Given the description of an element on the screen output the (x, y) to click on. 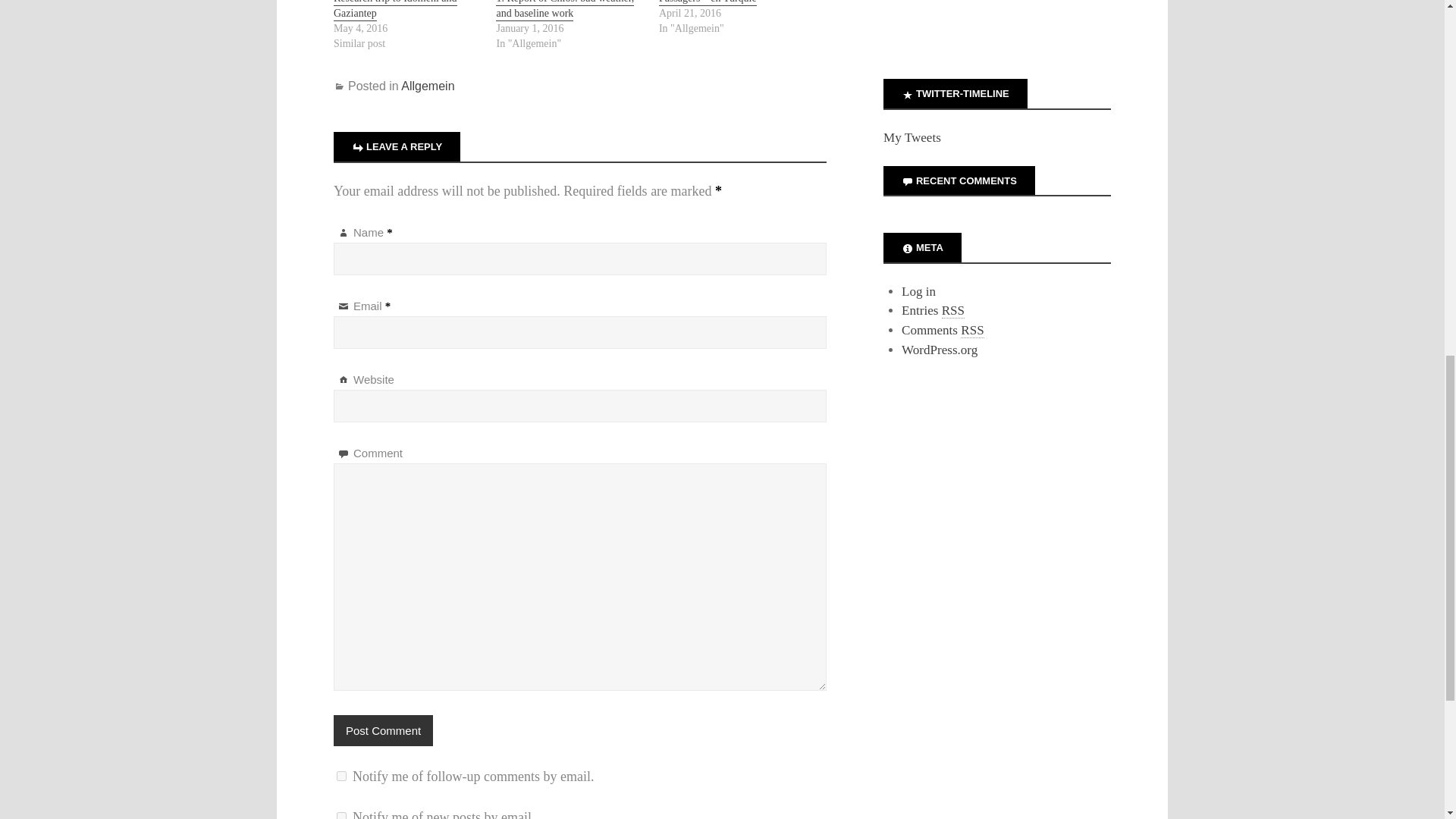
Entries RSS (932, 310)
subscribe (341, 815)
subscribe (341, 776)
My Tweets (911, 137)
Post Comment (382, 730)
WordPress.org (938, 350)
1. Report of Chios: bad weather, and baseline work (564, 10)
Comments RSS (942, 330)
Log in (918, 291)
Really Simple Syndication (952, 310)
Research trip to Idomeni and Gaziantep (395, 10)
Really Simple Syndication (972, 330)
Post Comment (382, 730)
Allgemein (427, 85)
